Given the description of an element on the screen output the (x, y) to click on. 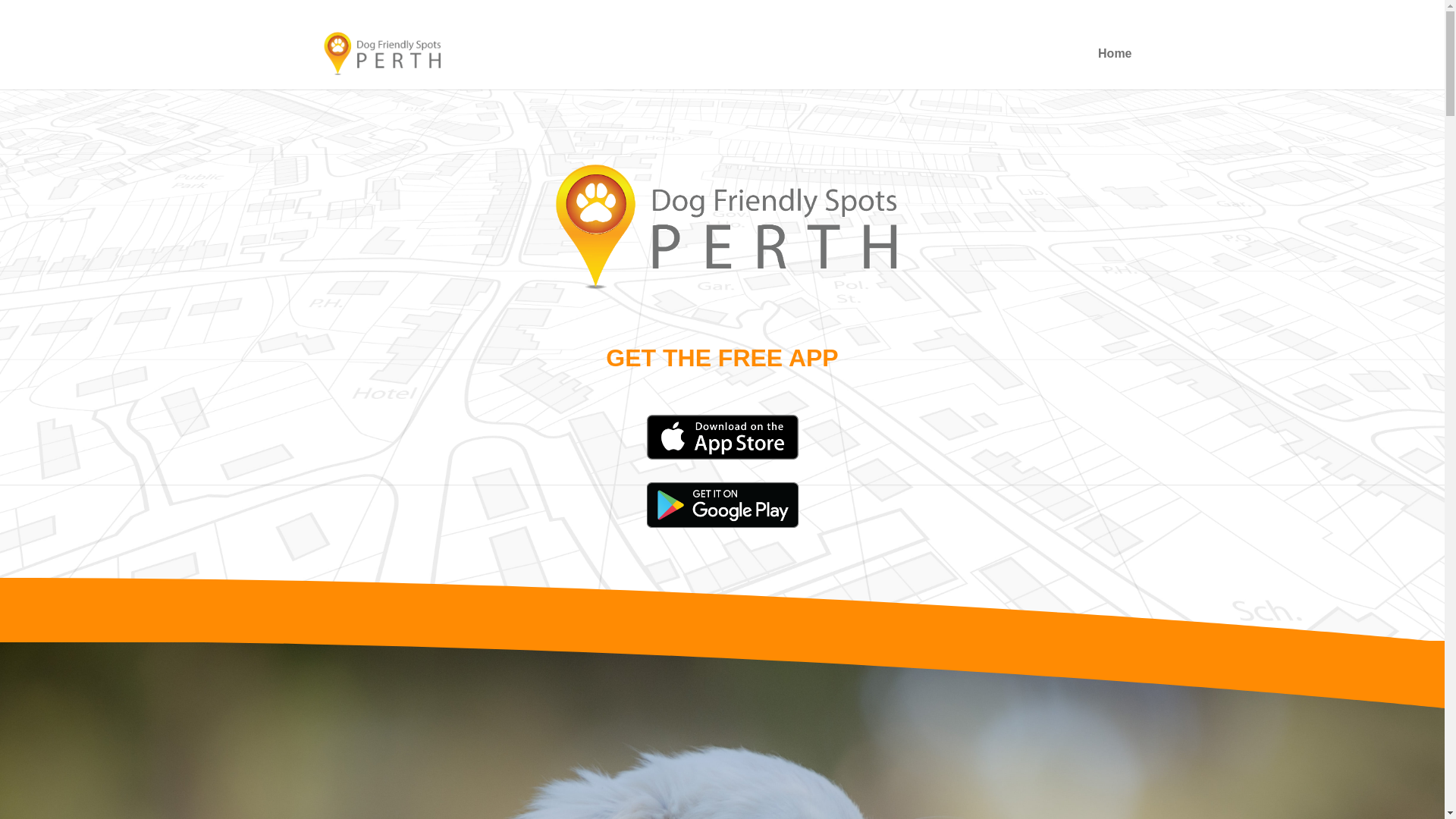
Home Element type: text (1114, 68)
